Given the description of an element on the screen output the (x, y) to click on. 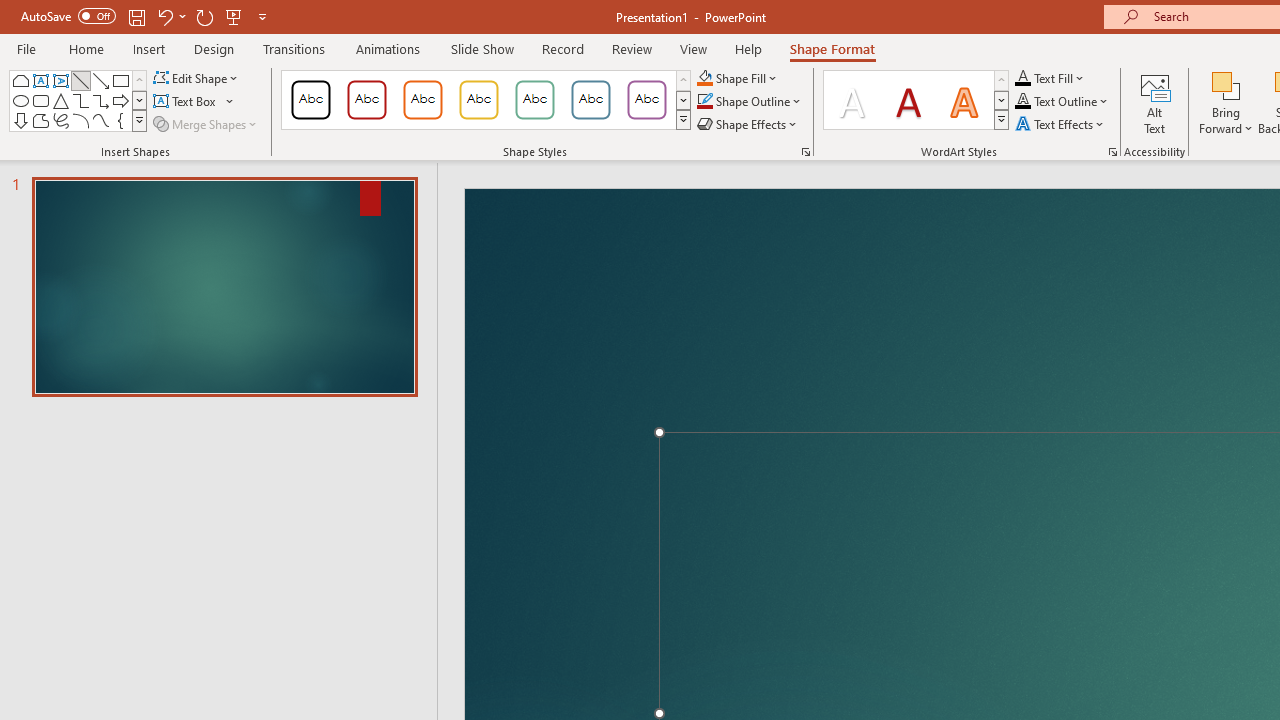
Fill: Dark Red, Accent color 1; Shadow (908, 100)
Shape Outline Blue, Accent 1 (704, 101)
Shape Fill (737, 78)
Merge Shapes (206, 124)
Freeform: Shape (40, 120)
Bring Forward (1225, 102)
Edit Shape (196, 78)
Connector: Elbow (80, 100)
Shape Outline (749, 101)
Arc (80, 120)
Left Brace (120, 120)
Shape Fill Orange, Accent 2 (704, 78)
Colored Outline - Black, Dark 1 (310, 100)
